Given the description of an element on the screen output the (x, y) to click on. 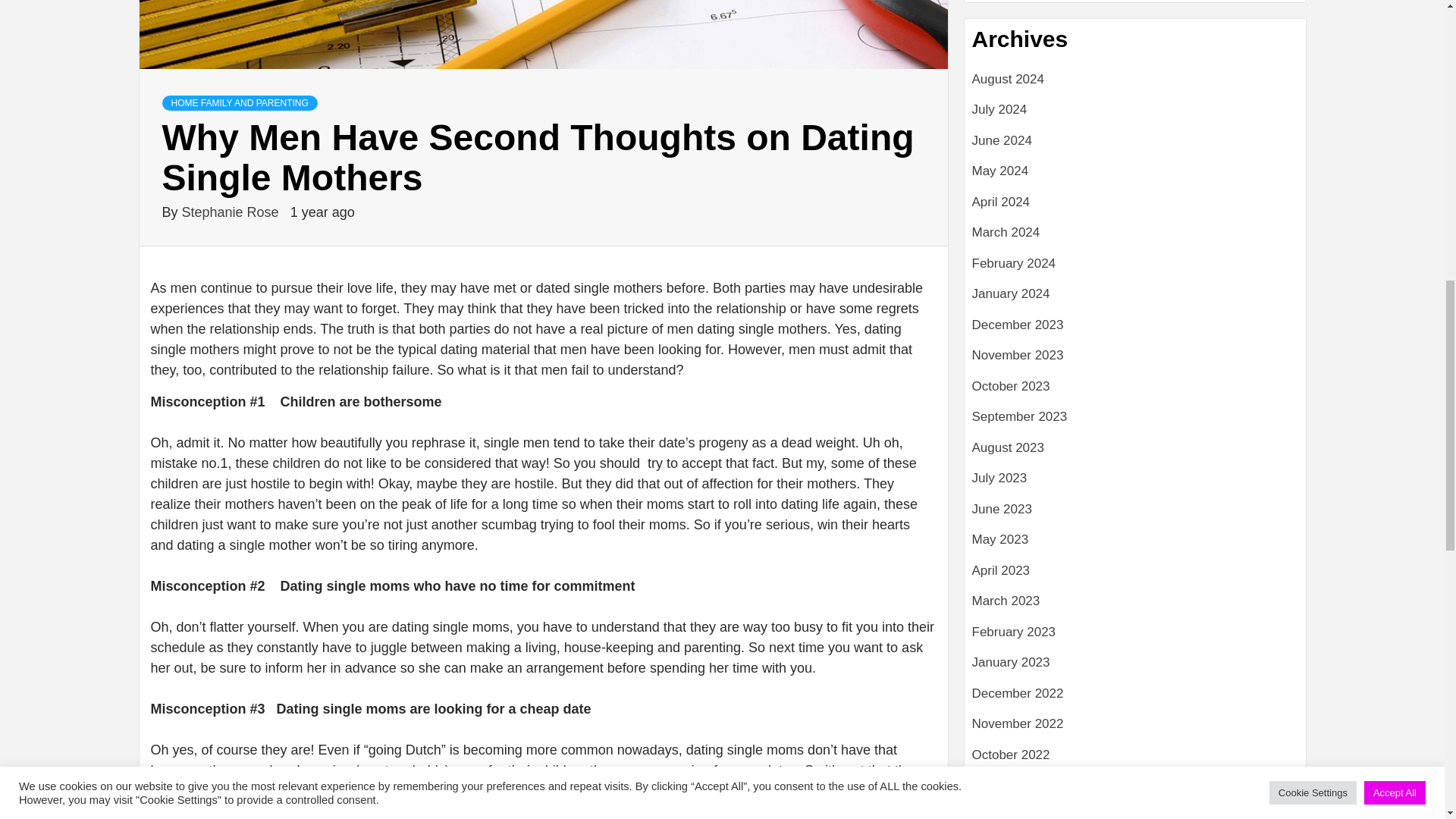
March 2024 (1135, 237)
July 2024 (1135, 115)
Stephanie Rose (232, 212)
December 2023 (1135, 330)
May 2024 (1135, 176)
April 2024 (1135, 207)
August 2024 (1135, 84)
January 2024 (1135, 299)
HOME FAMILY AND PARENTING (239, 102)
Why Men Have Second Thoughts on Dating Single Mothers (543, 34)
